Given the description of an element on the screen output the (x, y) to click on. 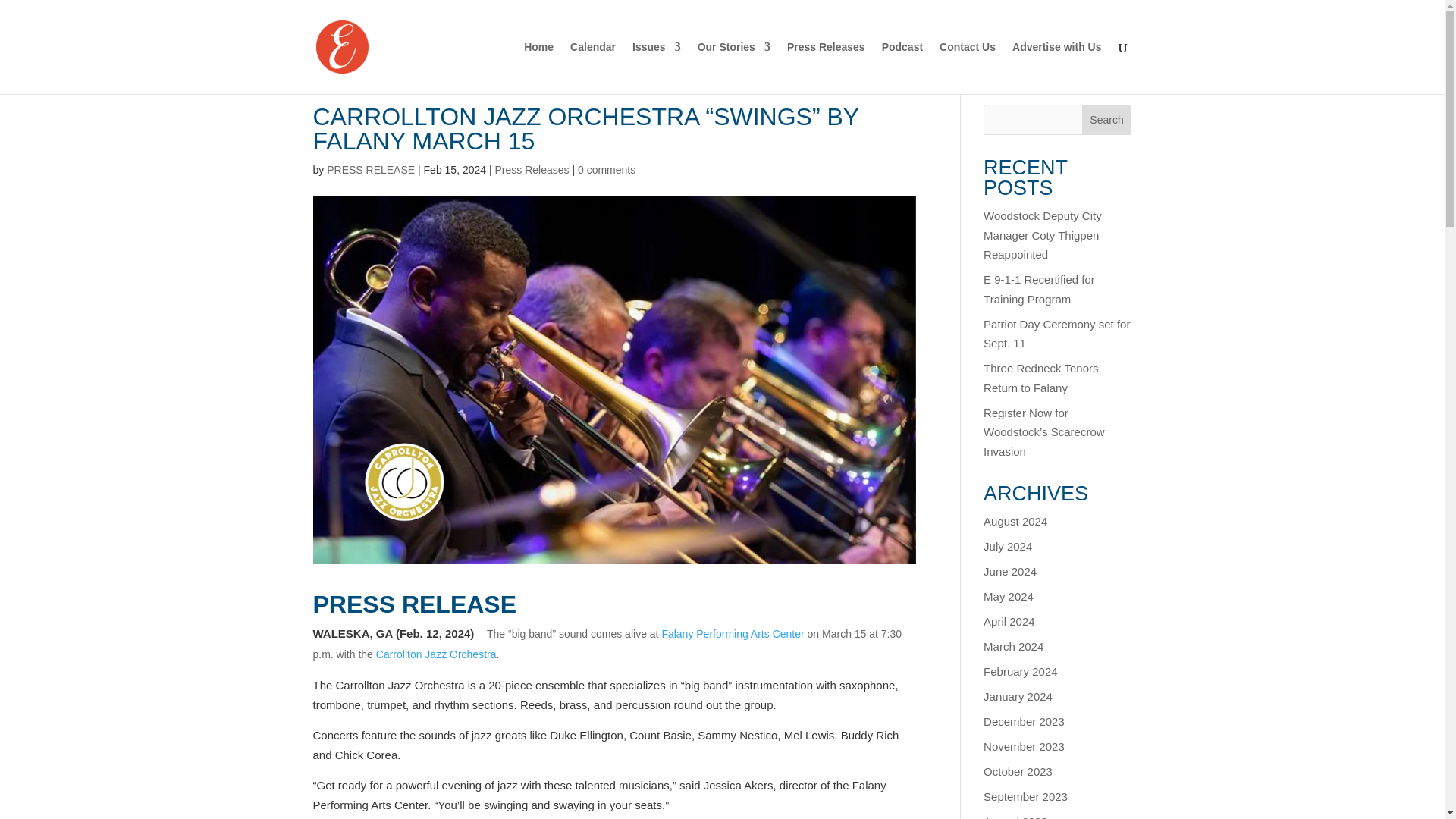
Carrollton Jazz Orchestra (435, 654)
Advertise with Us (1055, 67)
Issues (656, 67)
0 comments (606, 169)
Falany Performing Arts Center (732, 633)
Posts by PRESS RELEASE (370, 169)
PRESS RELEASE (370, 169)
Press Releases (532, 169)
Contact Us (967, 67)
Press Releases (825, 67)
